Given the description of an element on the screen output the (x, y) to click on. 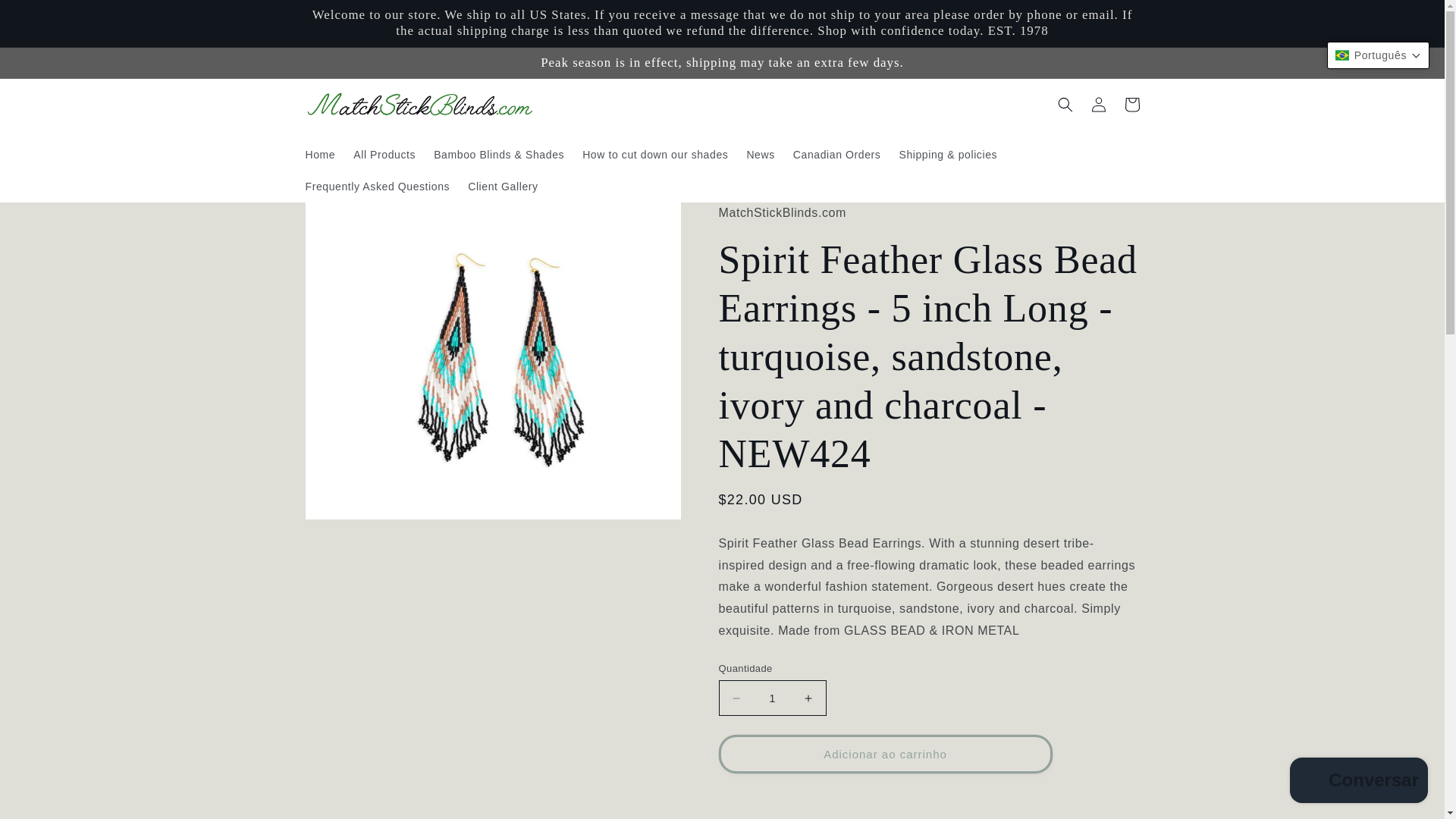
1 (773, 697)
Chat da loja virtual da Shopify (1358, 781)
All Products (384, 154)
Canadian Orders (836, 154)
Frequently Asked Questions (376, 186)
News (759, 154)
Home (319, 154)
Carrinho (1131, 104)
How to cut down our shades (654, 154)
Fazer login (1098, 104)
